Given the description of an element on the screen output the (x, y) to click on. 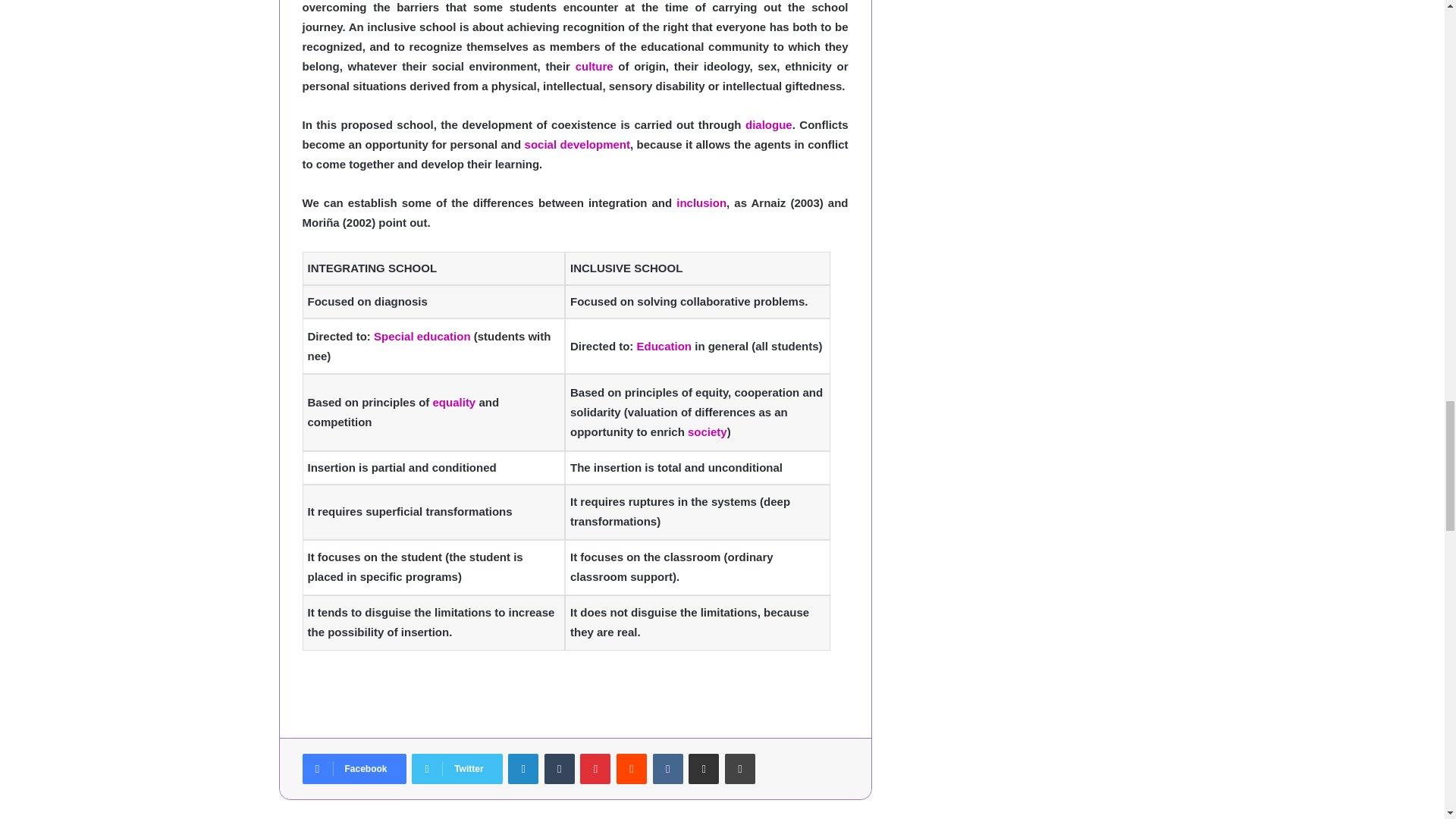
equality (454, 401)
Special education (422, 336)
Education (665, 345)
dialogue (768, 124)
society (706, 431)
culture (593, 65)
inclusion (701, 202)
social development (577, 144)
